Given the description of an element on the screen output the (x, y) to click on. 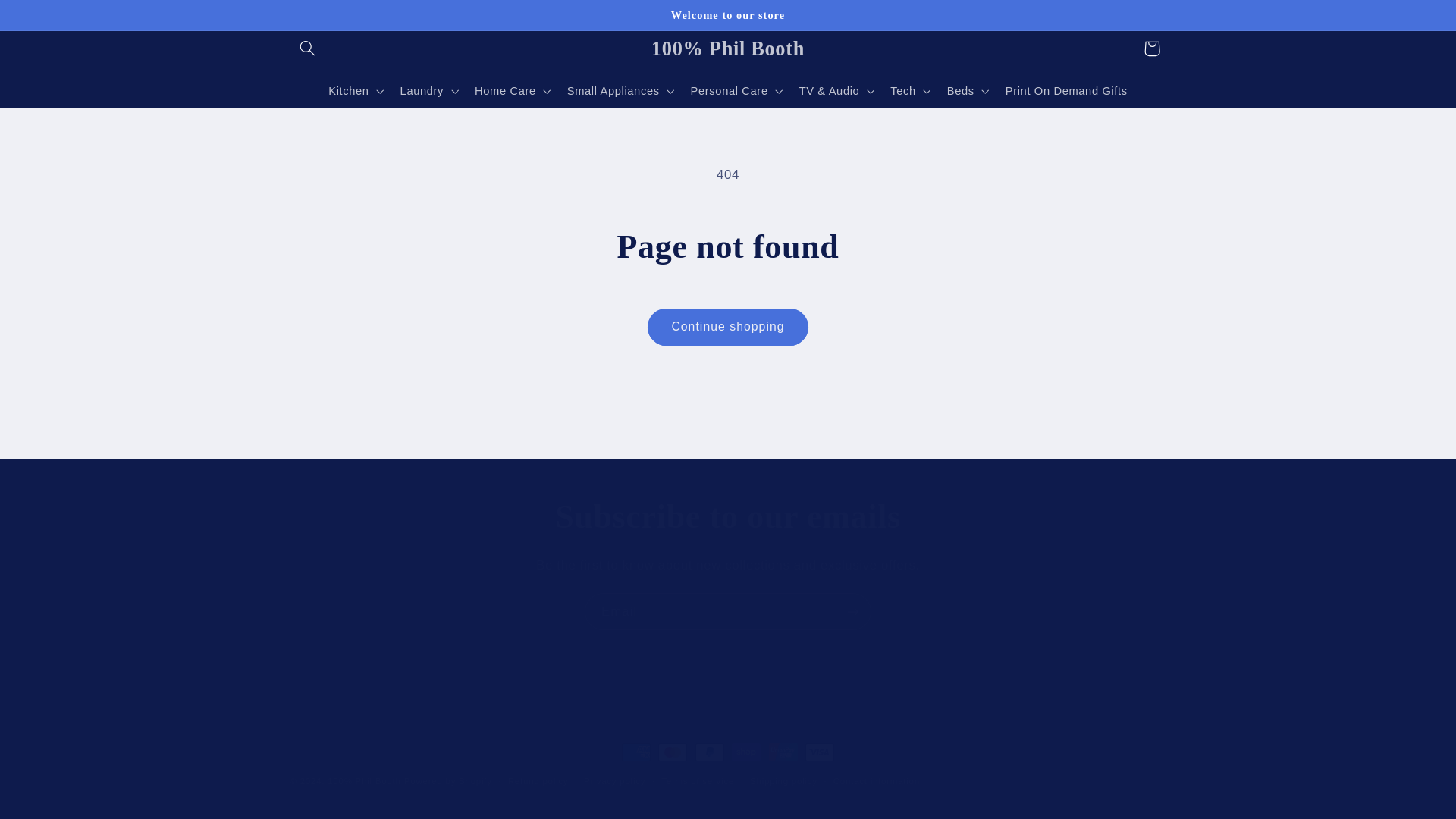
Skip to content (48, 18)
Email (727, 610)
Subscribe to our emails (727, 517)
